Given the description of an element on the screen output the (x, y) to click on. 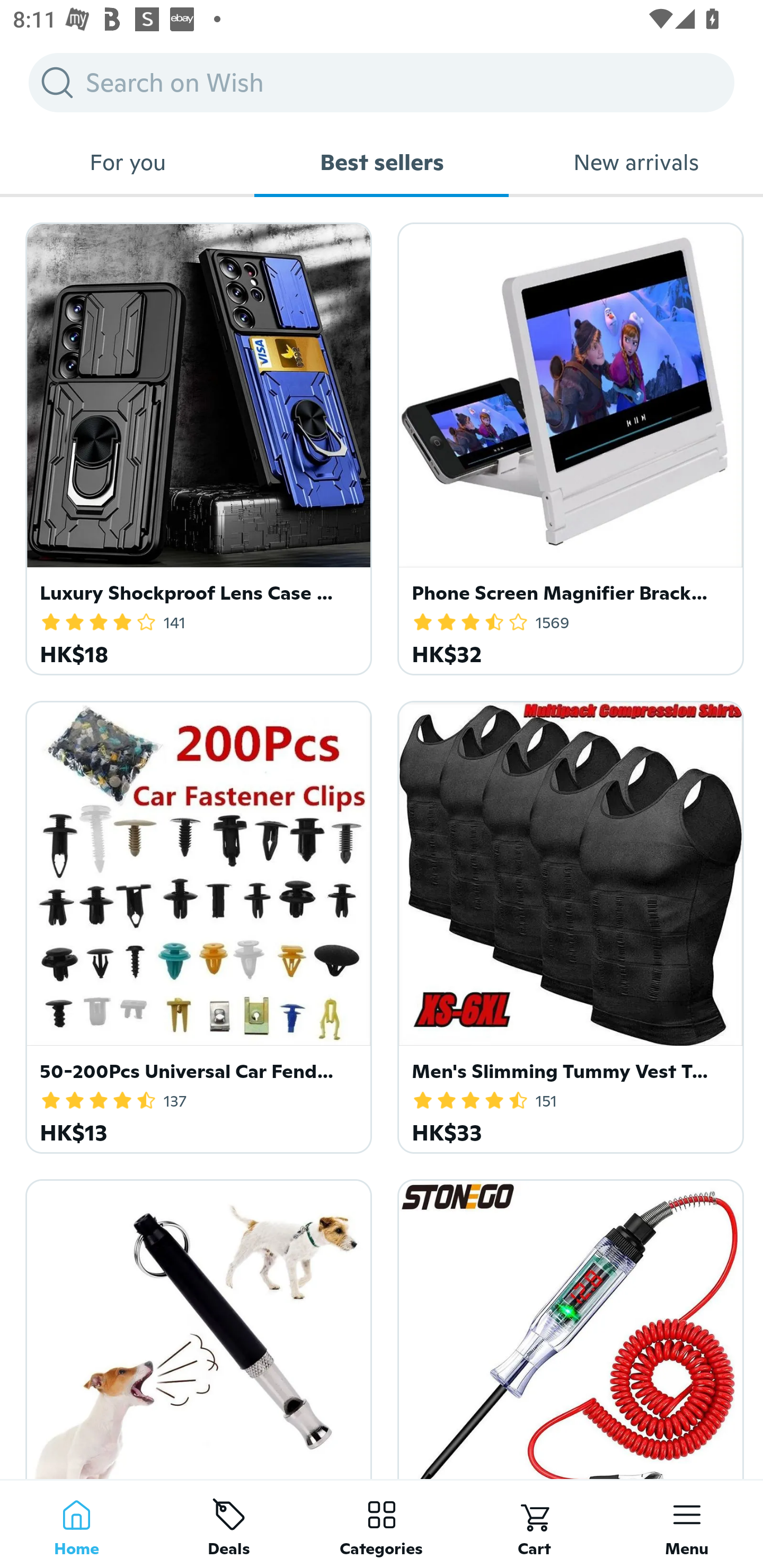
Search on Wish (381, 82)
For you (127, 161)
Best sellers (381, 161)
New arrivals (635, 161)
Home (76, 1523)
Deals (228, 1523)
Categories (381, 1523)
Cart (533, 1523)
Menu (686, 1523)
